Given the description of an element on the screen output the (x, y) to click on. 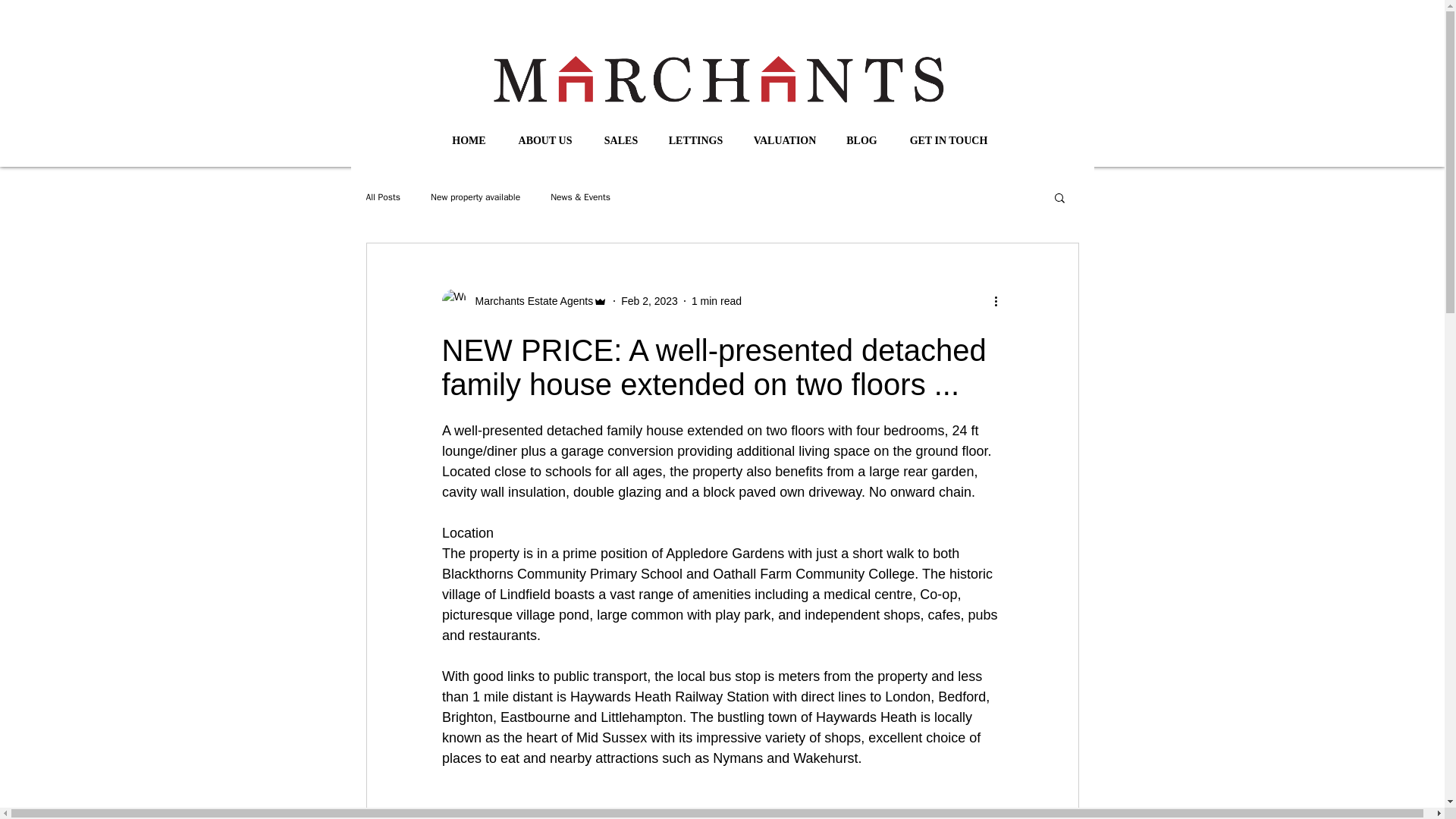
All Posts (382, 196)
Feb 2, 2023 (649, 300)
1 min read (716, 300)
BLOG (861, 140)
Marchants Estate Agents (524, 300)
New property available (474, 196)
HOME (469, 140)
Marchants Estate Agents (528, 300)
